Given the description of an element on the screen output the (x, y) to click on. 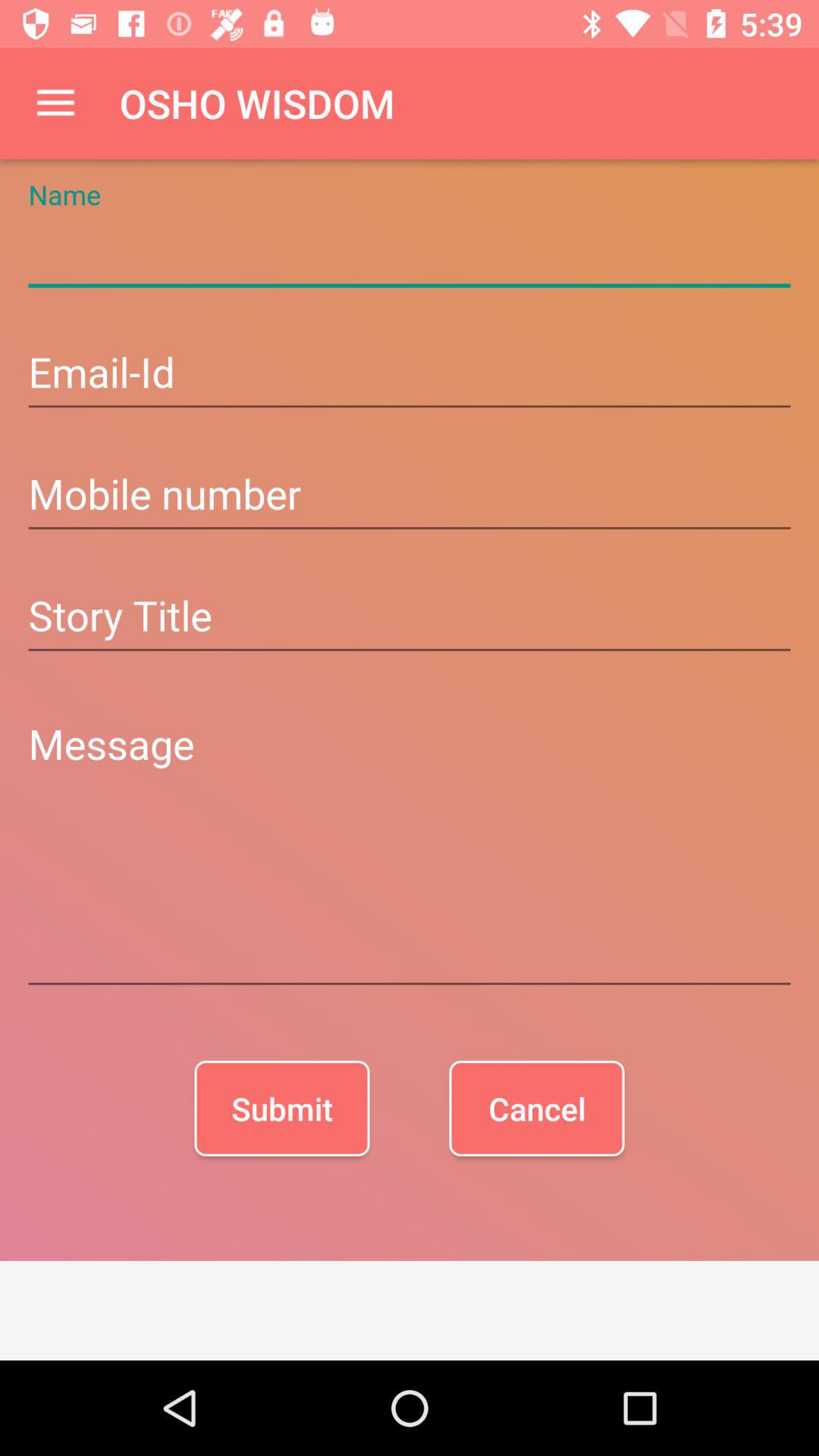
name field (409, 252)
